Given the description of an element on the screen output the (x, y) to click on. 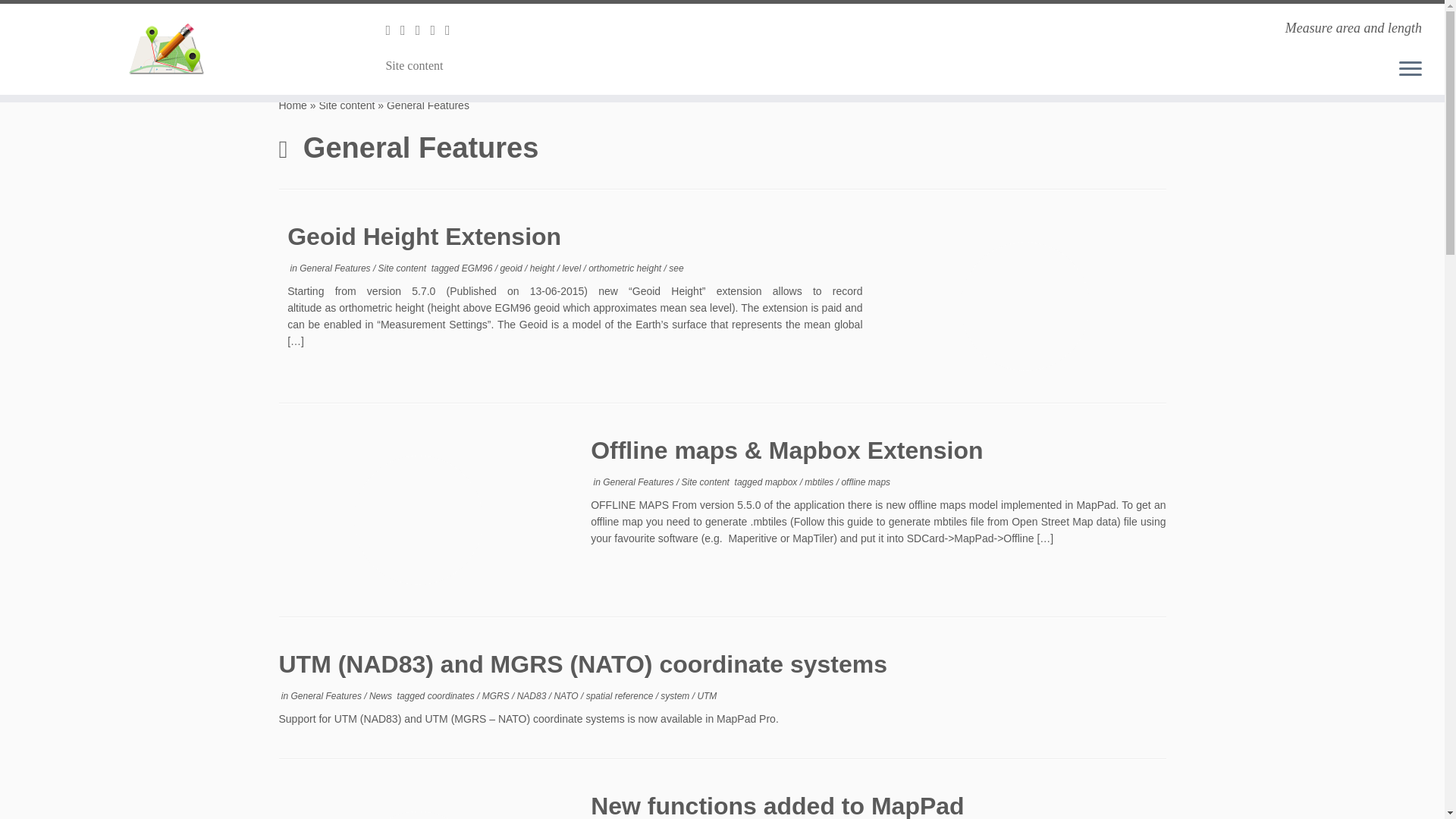
NAD83 (532, 696)
View all posts in height (543, 267)
mbtiles (820, 481)
Geoid Height Extension (423, 236)
General Features (328, 696)
EGM96 (478, 267)
Site content (411, 65)
Site content (403, 267)
Open the menu (1410, 69)
geoid (511, 267)
